Given the description of an element on the screen output the (x, y) to click on. 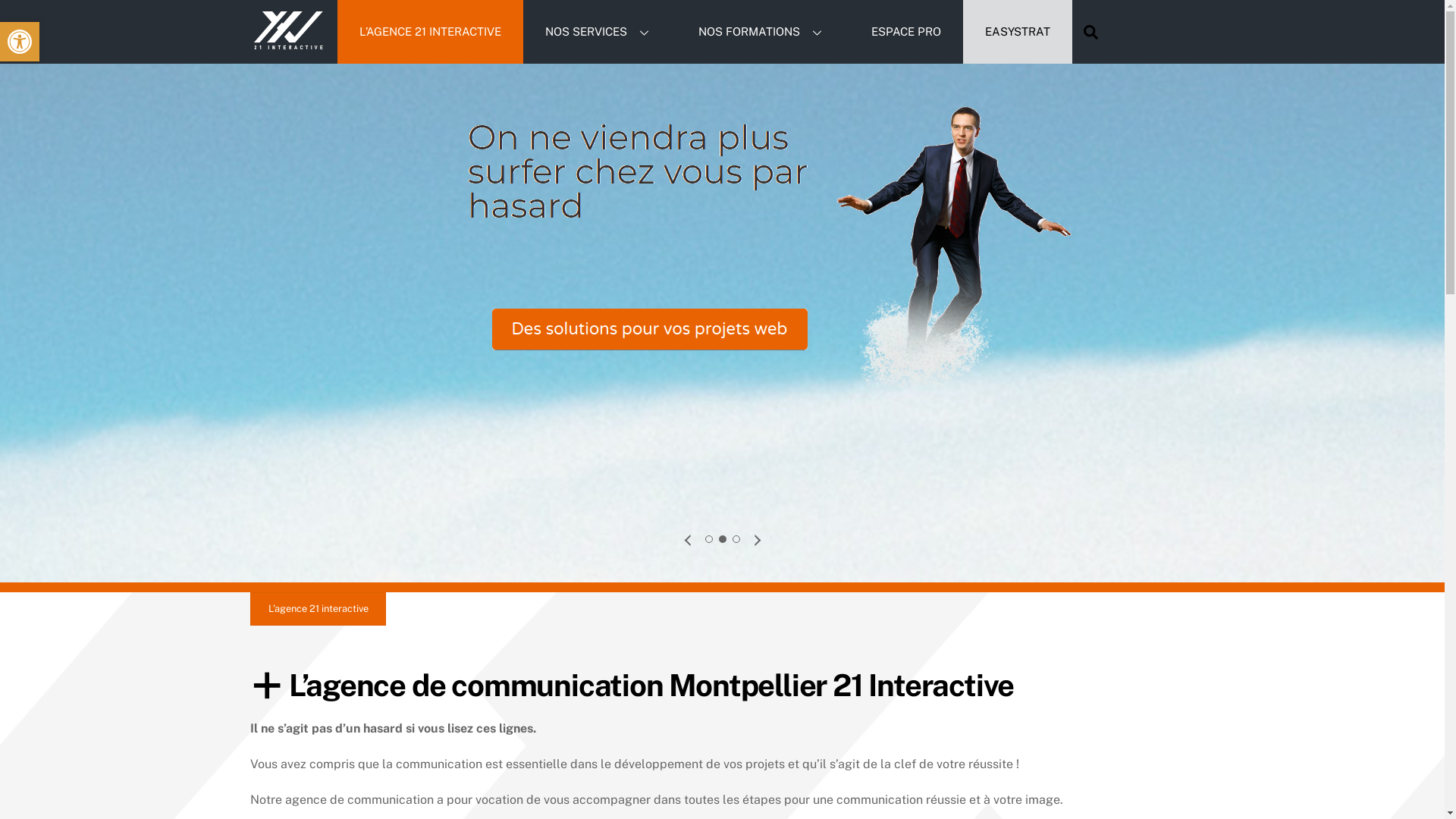
EASYSTRAT Element type: text (1017, 31)
logo-21-interactive Element type: hover (288, 30)
Search Element type: text (1090, 32)
21 Interactive Element type: hover (288, 45)
surfeur_texte Element type: hover (721, 287)
ESPACE PRO Element type: text (905, 31)
NOS FORMATIONS Element type: text (762, 31)
NOS SERVICES Element type: text (599, 31)
